Given the description of an element on the screen output the (x, y) to click on. 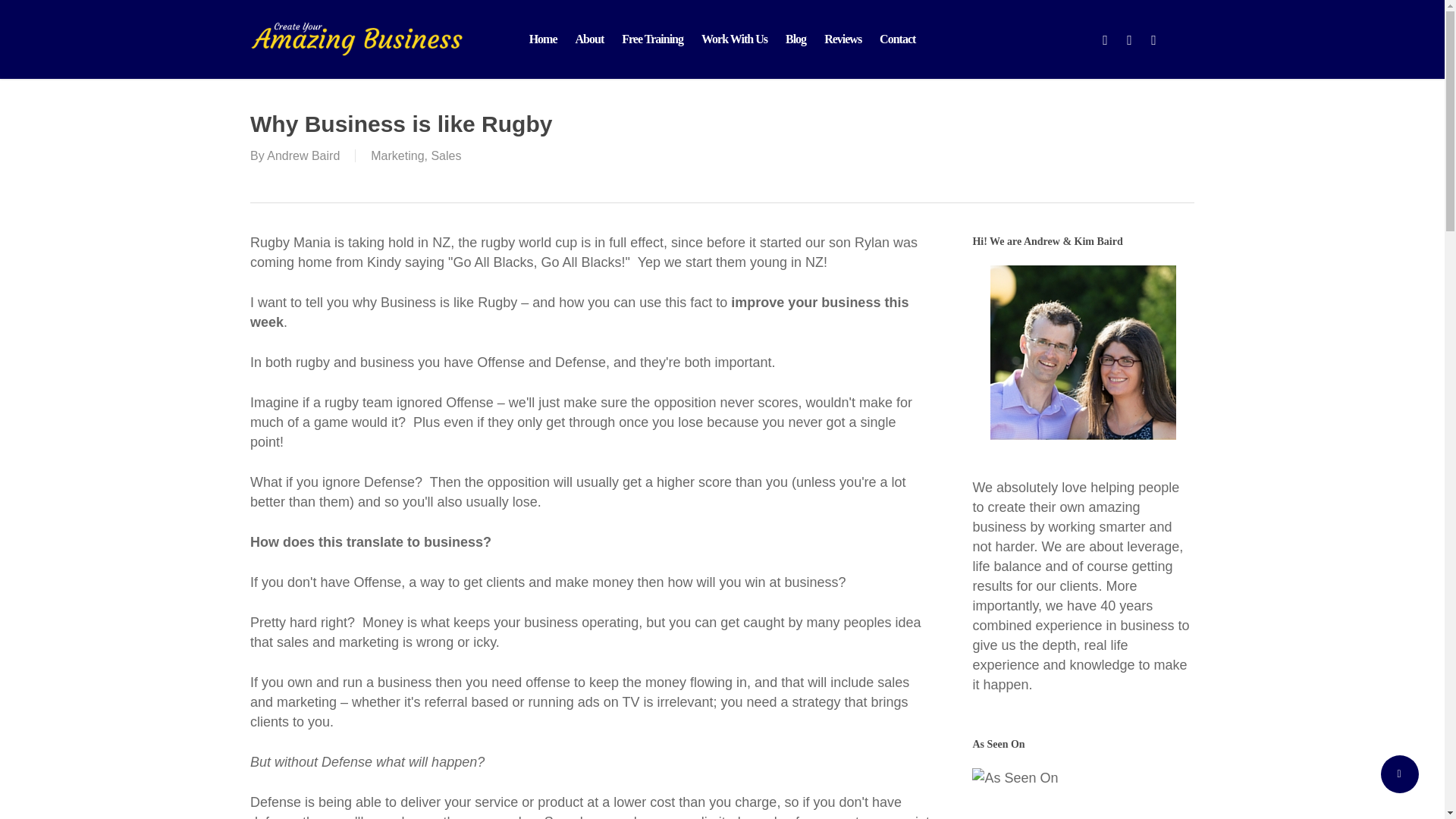
Contact (897, 39)
x-twitter (1104, 39)
facebook (1129, 39)
youtube (1180, 39)
linkedin (1153, 39)
Andrew Baird (302, 155)
Posts by Andrew Baird (302, 155)
Work With Us (734, 39)
About (589, 39)
Marketing (397, 155)
